Given the description of an element on the screen output the (x, y) to click on. 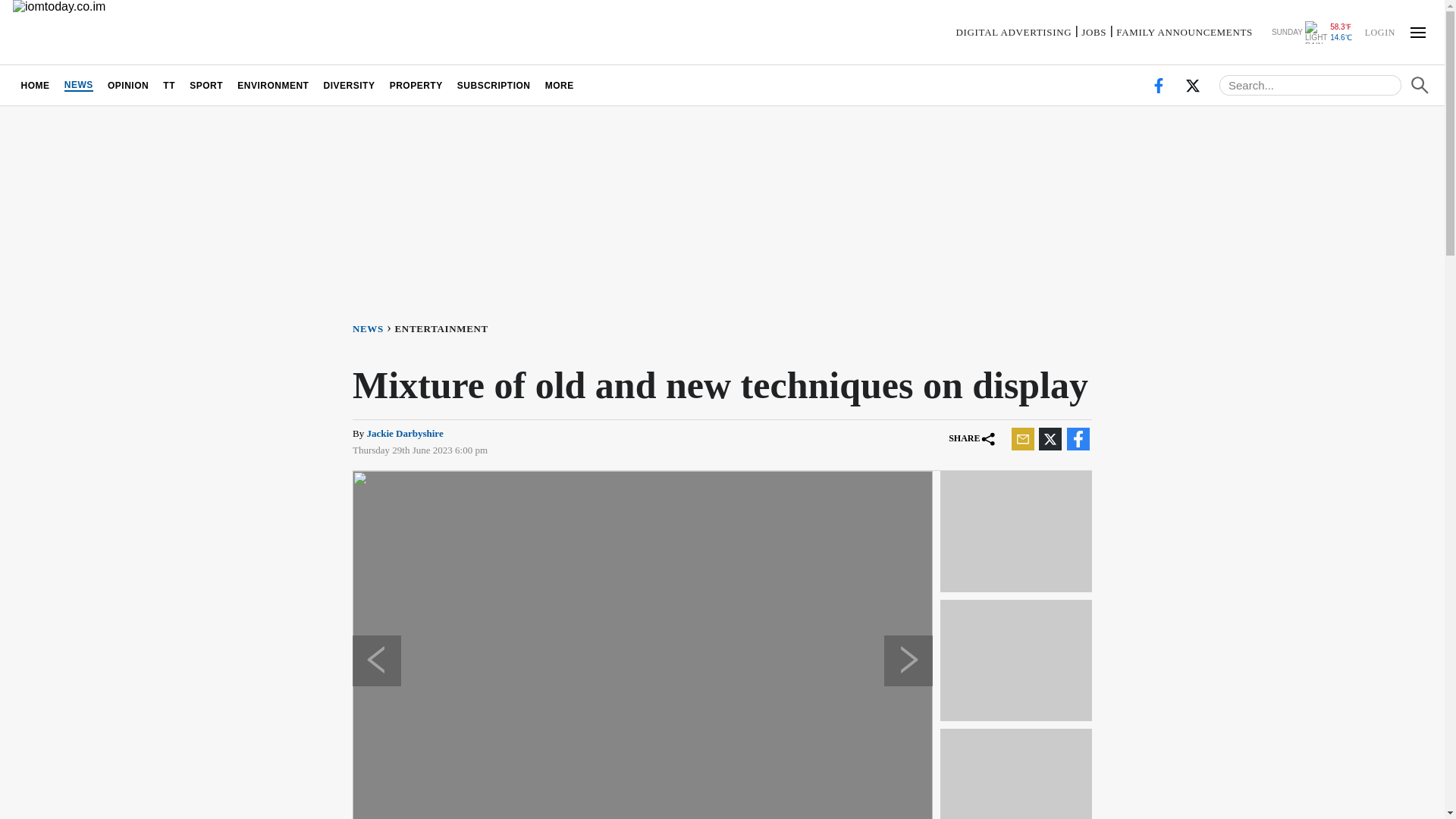
TT (169, 85)
OPINION (127, 85)
PROPERTY (415, 85)
SPORT (206, 85)
ENTERTAINMENT (444, 328)
SUBSCRIPTION (493, 85)
HOME (34, 85)
DIVERSITY (348, 85)
ENVIRONMENT (272, 85)
MORE (558, 85)
FAMILY ANNOUNCEMENTS (1184, 32)
NEWS (78, 85)
LOGIN (1379, 31)
Jackie Darbyshire (404, 432)
NEWS (373, 328)
